Given the description of an element on the screen output the (x, y) to click on. 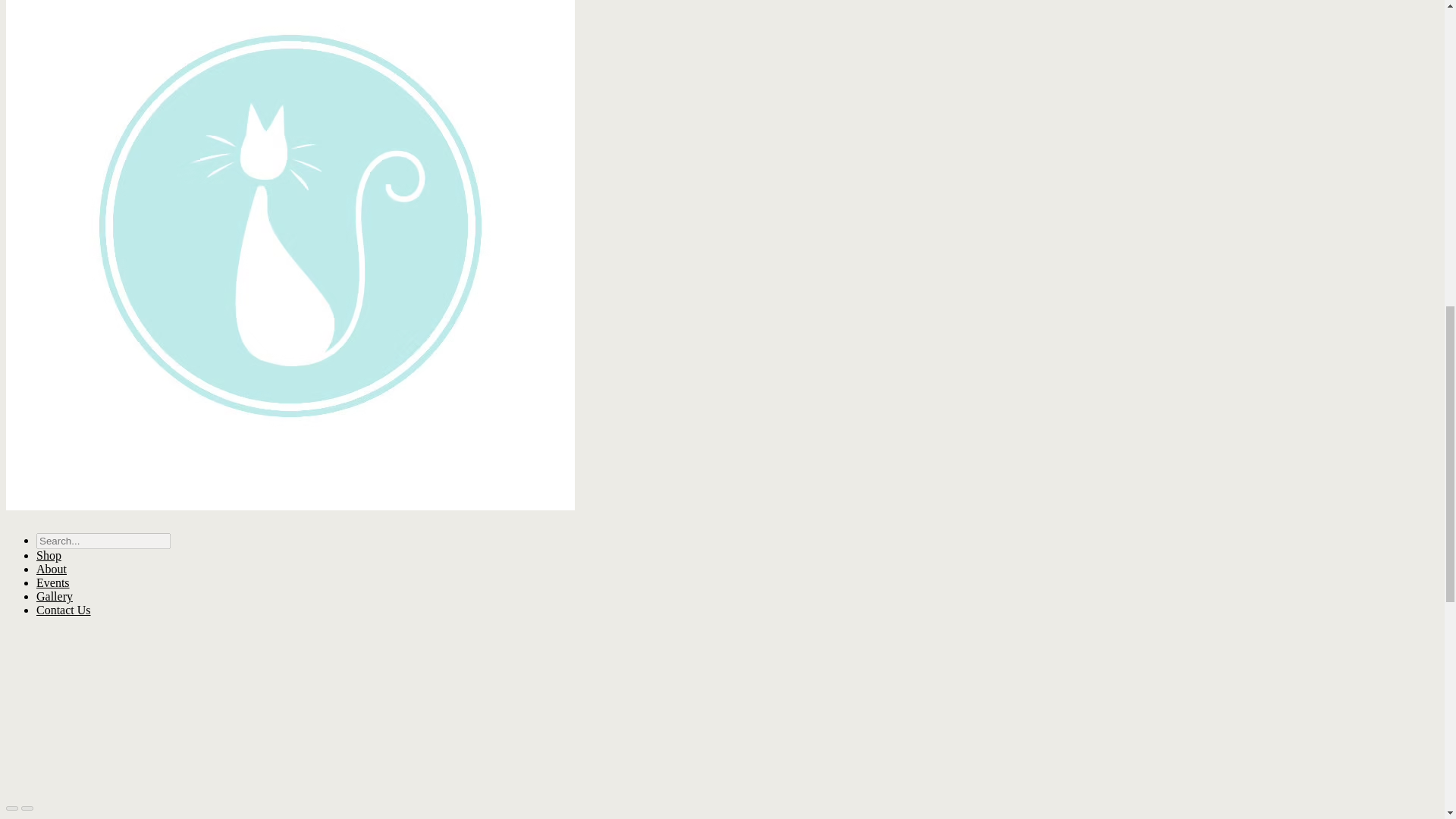
Shop (48, 554)
Contact Us (63, 609)
About (51, 568)
Gallery (54, 595)
Events (52, 582)
